Given the description of an element on the screen output the (x, y) to click on. 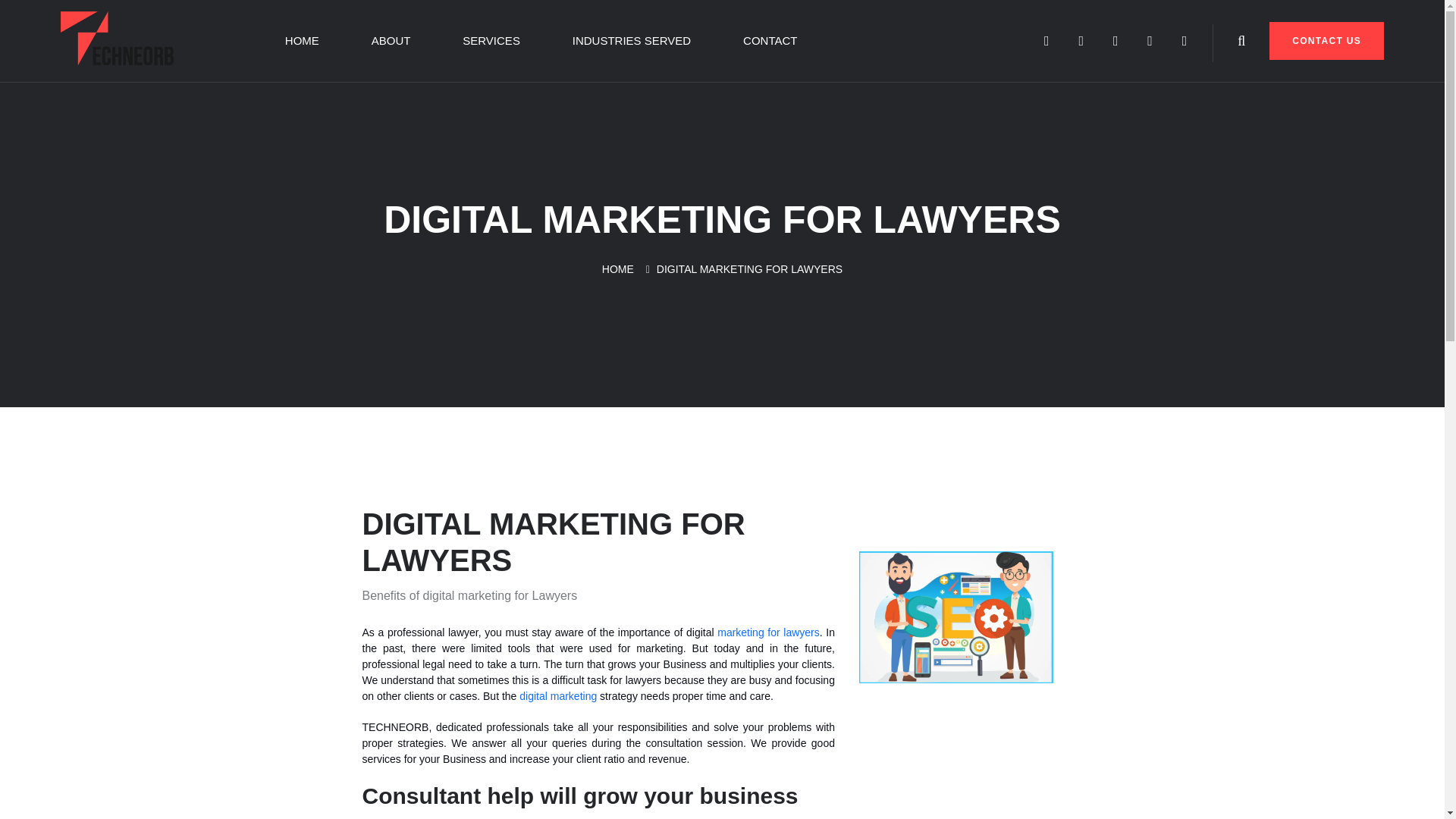
digital marketing (557, 695)
HOME (617, 268)
INDUSTRIES SERVED (631, 41)
INDUSTRIES SERVED (631, 41)
marketing for lawyers (768, 632)
CONTACT US (1326, 40)
